Given the description of an element on the screen output the (x, y) to click on. 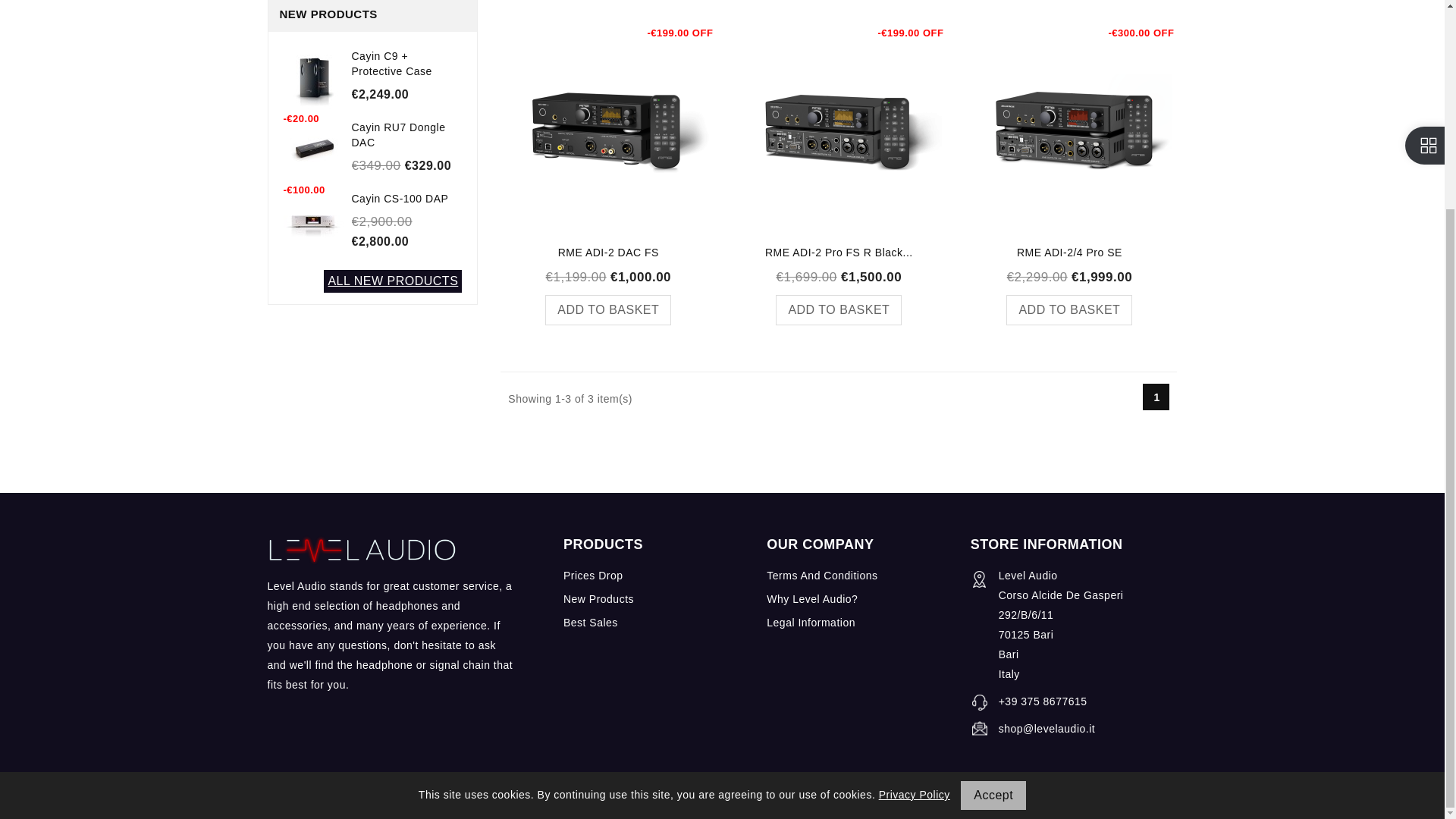
our terms and conditions (822, 575)
Best sales (590, 622)
New products (598, 598)
Our special products (593, 575)
Learn more about us (812, 598)
